Given the description of an element on the screen output the (x, y) to click on. 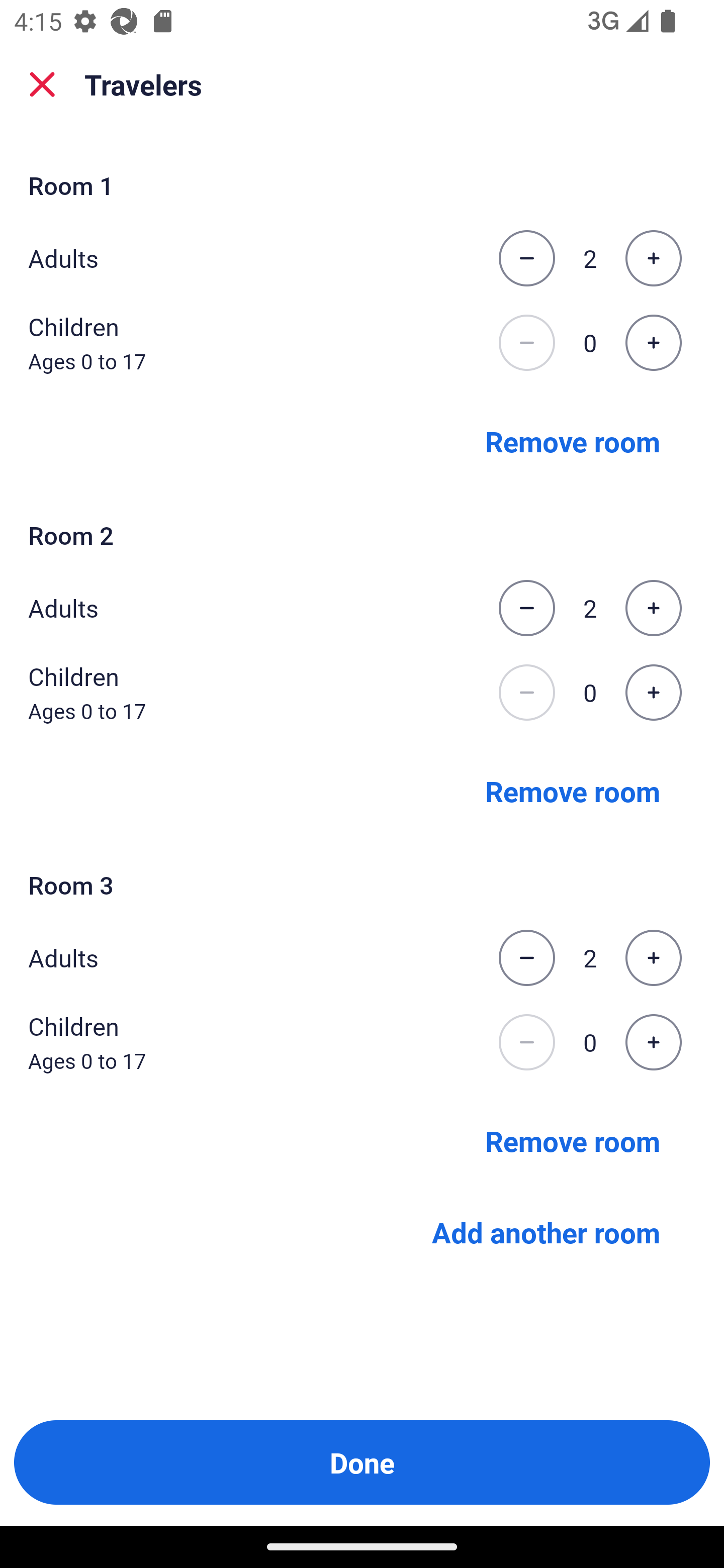
close (42, 84)
Decrease the number of adults (526, 258)
Increase the number of adults (653, 258)
Decrease the number of children (526, 343)
Increase the number of children (653, 343)
Remove room (572, 440)
Decrease the number of adults (526, 608)
Increase the number of adults (653, 608)
Decrease the number of children (526, 692)
Increase the number of children (653, 692)
Remove room (572, 790)
Decrease the number of adults (526, 957)
Increase the number of adults (653, 957)
Decrease the number of children (526, 1042)
Increase the number of children (653, 1042)
Remove room (572, 1140)
Add another room (545, 1232)
Done (361, 1462)
